Given the description of an element on the screen output the (x, y) to click on. 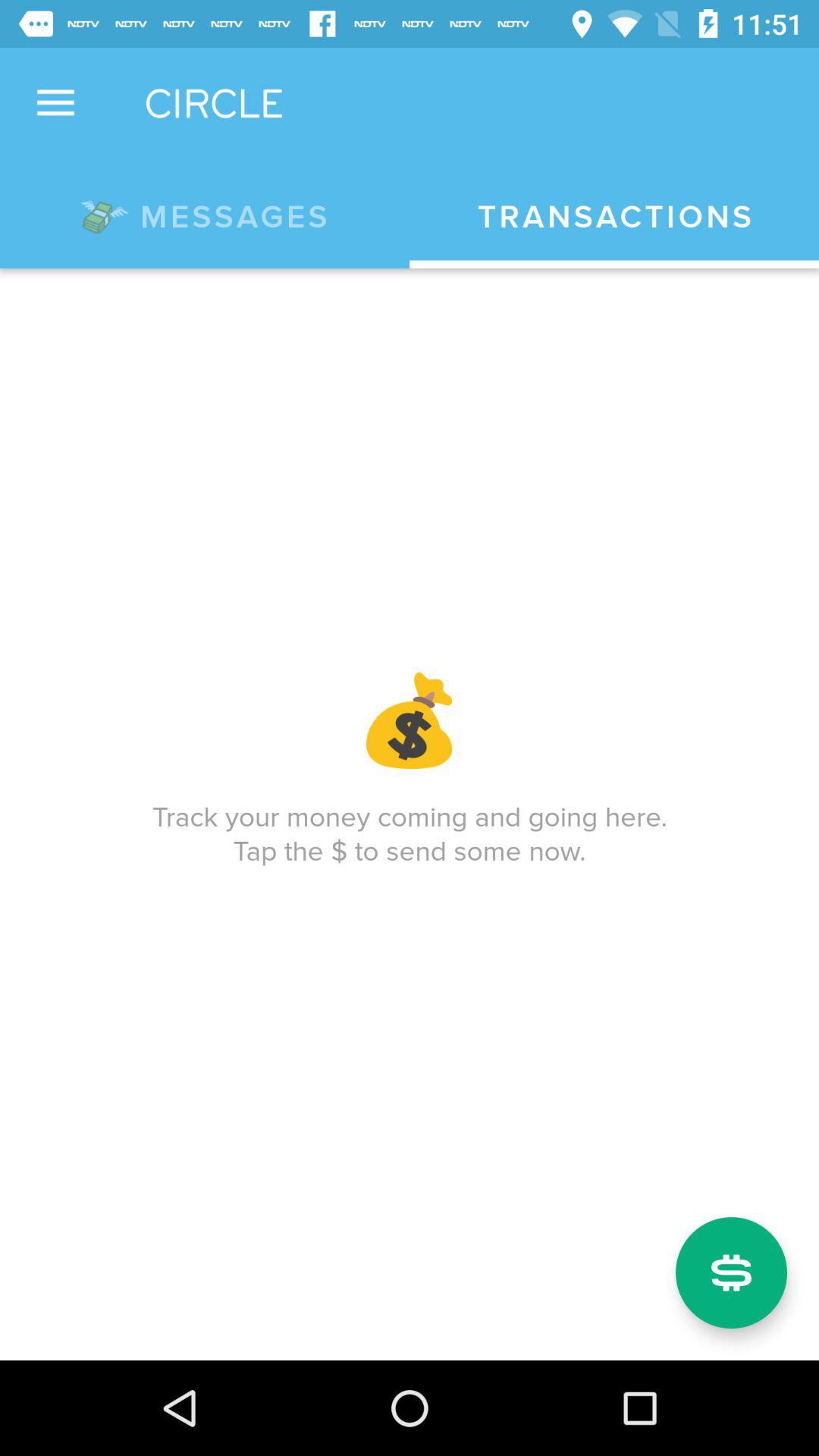
launch icon below track your money (731, 1272)
